Given the description of an element on the screen output the (x, y) to click on. 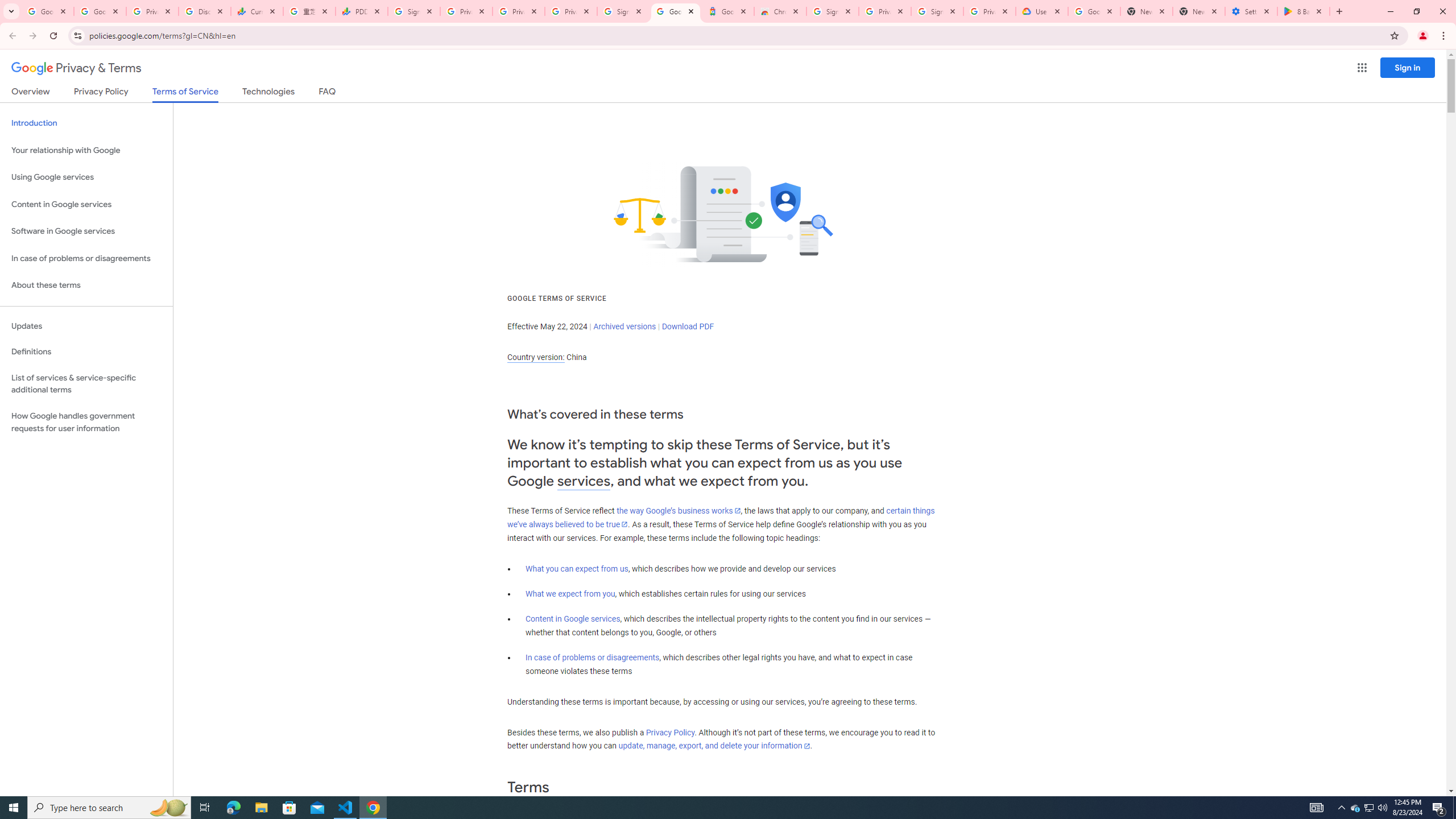
Google Workspace Admin Community (47, 11)
Privacy Checkup (571, 11)
Content in Google services (572, 618)
Privacy Checkup (518, 11)
update, manage, export, and delete your information (714, 746)
Archived versions (624, 326)
